Given the description of an element on the screen output the (x, y) to click on. 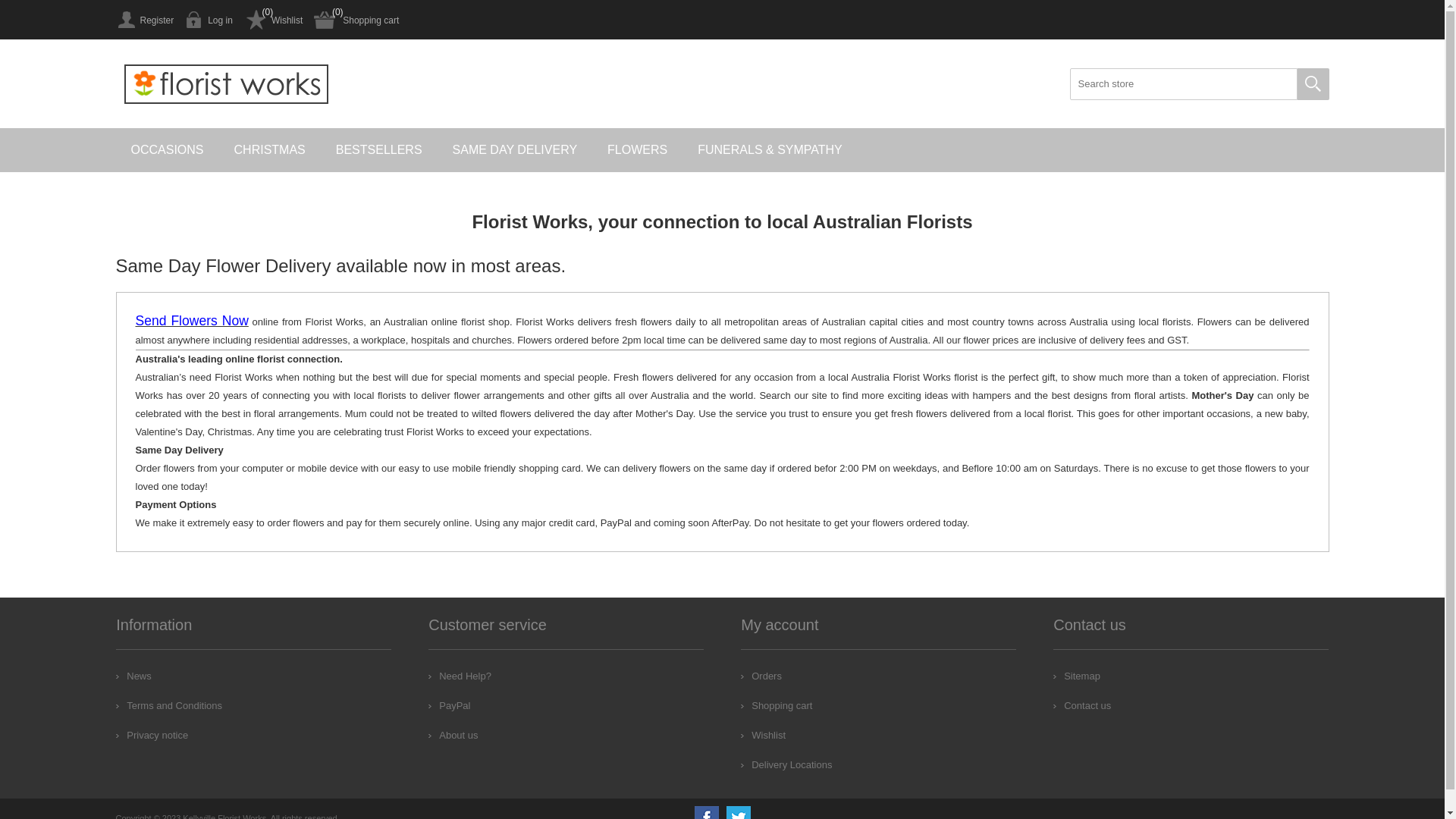
FUNERALS & SYMPATHY Element type: text (769, 150)
News Element type: text (133, 675)
Send Flowers Now Element type: text (190, 321)
Log in Element type: text (208, 19)
Search Element type: text (1312, 84)
Contact us Element type: text (1081, 705)
Terms and Conditions Element type: text (169, 705)
Privacy notice Element type: text (152, 734)
Register Element type: text (144, 19)
BESTSELLERS Element type: text (378, 150)
FLOWERS Element type: text (637, 150)
Delivery Locations Element type: text (785, 764)
Orders Element type: text (760, 675)
Sitemap Element type: text (1076, 675)
Need Help? Element type: text (459, 675)
About us Element type: text (452, 734)
SAME DAY DELIVERY Element type: text (515, 150)
Shopping cart Element type: text (776, 705)
Shopping cart Element type: text (355, 19)
CHRISTMAS Element type: text (269, 150)
OCCASIONS Element type: text (166, 150)
Wishlist Element type: text (273, 19)
PayPal Element type: text (449, 705)
Wishlist Element type: text (762, 734)
